Given the description of an element on the screen output the (x, y) to click on. 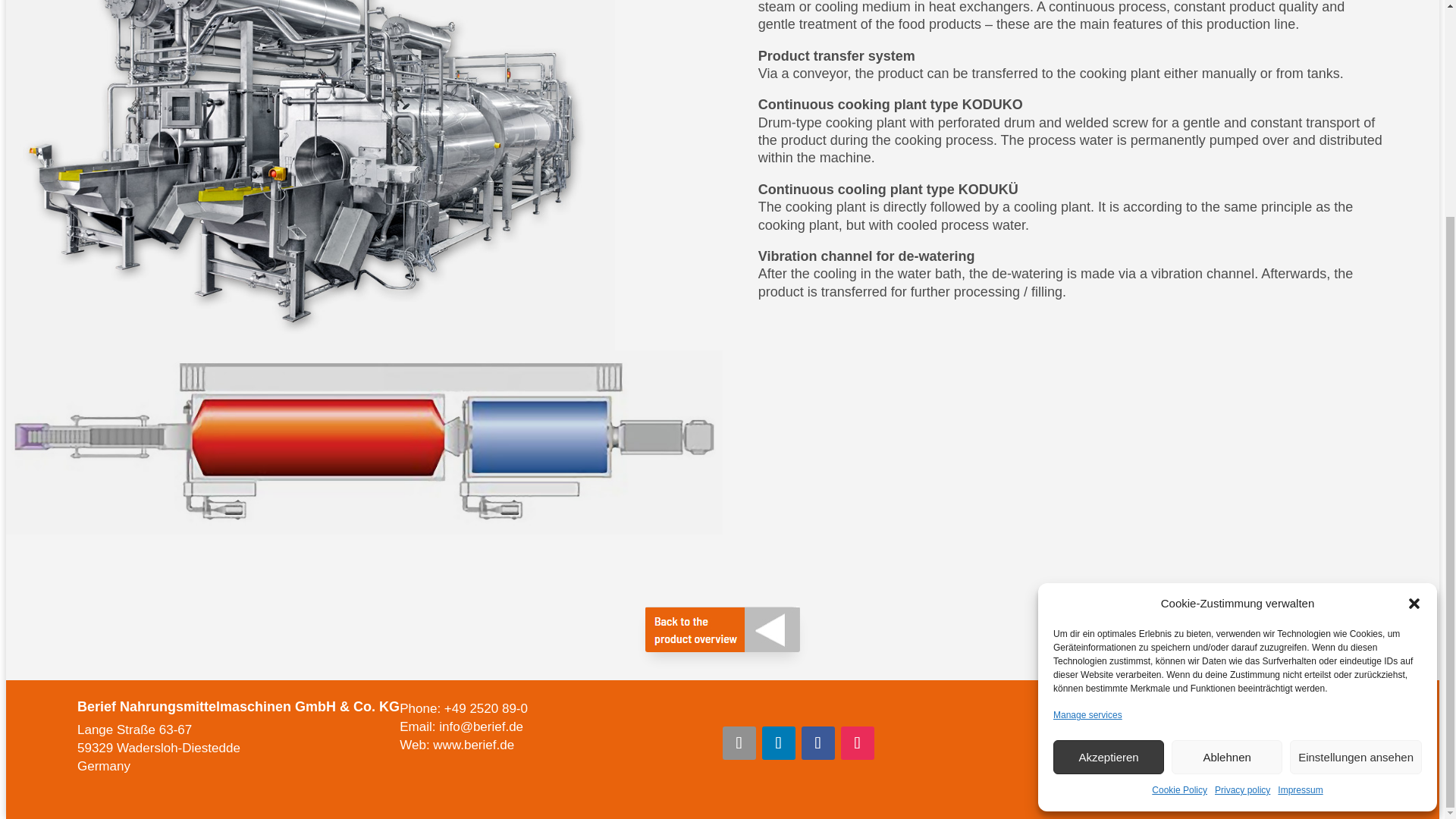
Impressum (1300, 505)
Return to berief Portfolio (722, 628)
Cookie Policy (1179, 505)
Follow on Facebook (817, 743)
Manage services (1087, 430)
Follow on LinkedIn (777, 743)
Einstellungen ansehen (1356, 471)
Privacy policy (1241, 505)
Follow on XING (738, 743)
Follow on Instagram (856, 743)
Akzeptieren (1107, 471)
Ablehnen (1227, 471)
